Given the description of an element on the screen output the (x, y) to click on. 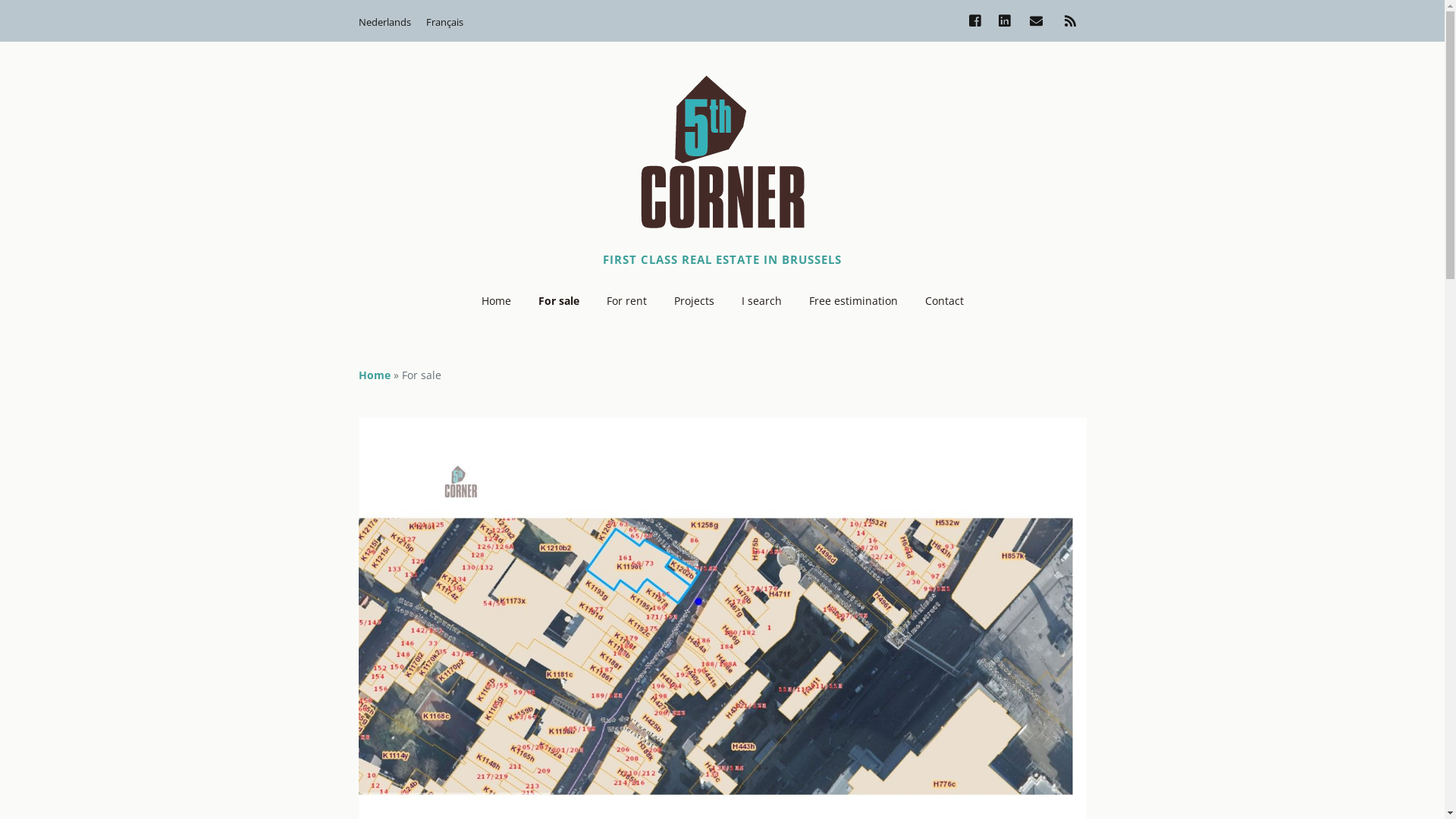
I search Element type: text (761, 300)
For rent Element type: text (626, 300)
Projects Element type: text (693, 300)
Home Element type: text (495, 300)
Free estimination Element type: text (852, 300)
Nederlands Element type: text (383, 21)
For sale Element type: text (558, 300)
Home Element type: text (373, 374)
Contact Element type: text (944, 300)
